Given the description of an element on the screen output the (x, y) to click on. 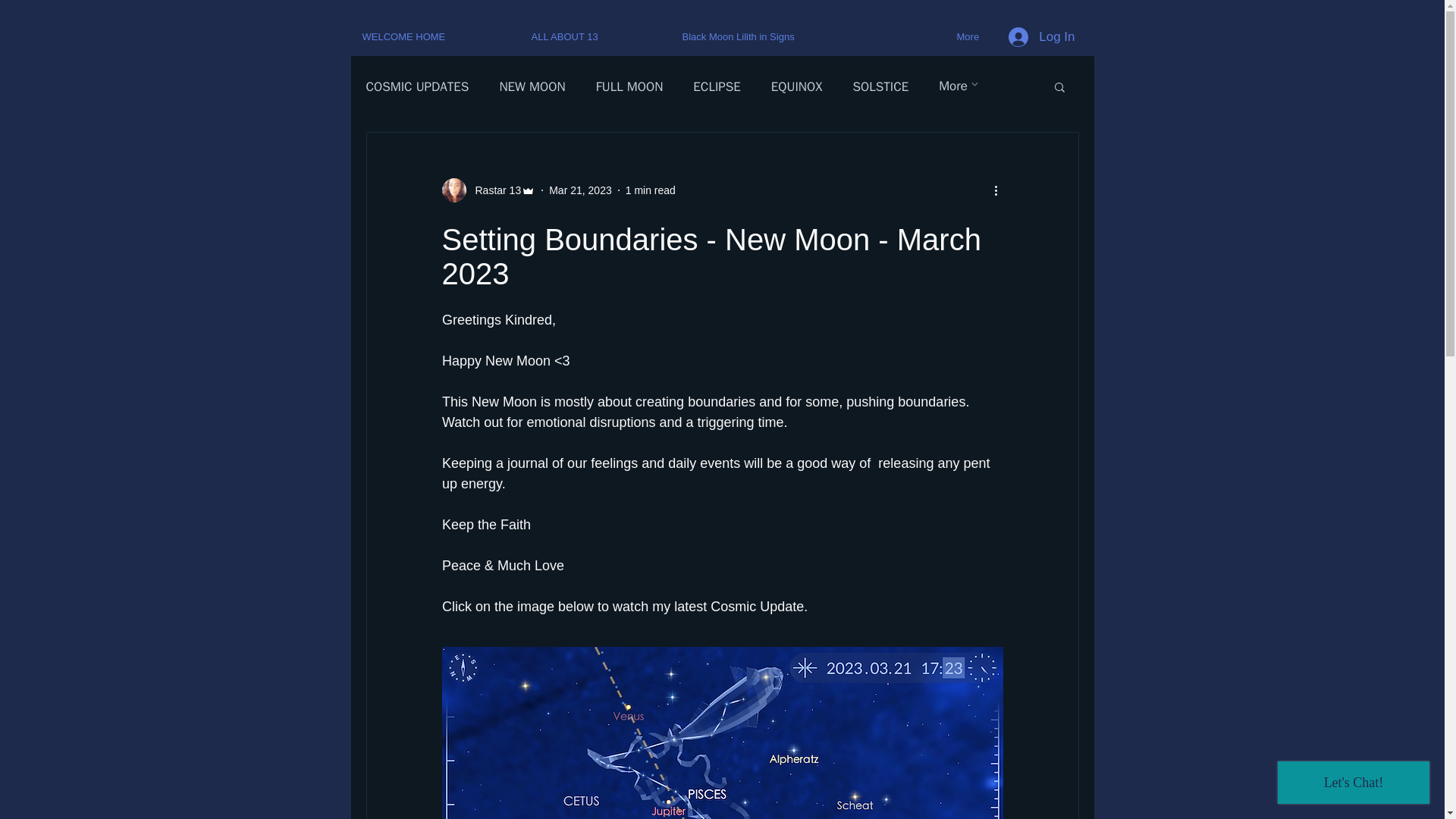
WELCOME HOME (434, 37)
Black Moon Lilith in Signs (806, 37)
ECLIPSE (717, 85)
FULL MOON (629, 85)
NEW MOON (531, 85)
SOLSTICE (879, 85)
Log In (1040, 36)
ALL ABOUT 13 (595, 37)
Rastar 13 (488, 190)
Rastar 13 (493, 189)
